Given the description of an element on the screen output the (x, y) to click on. 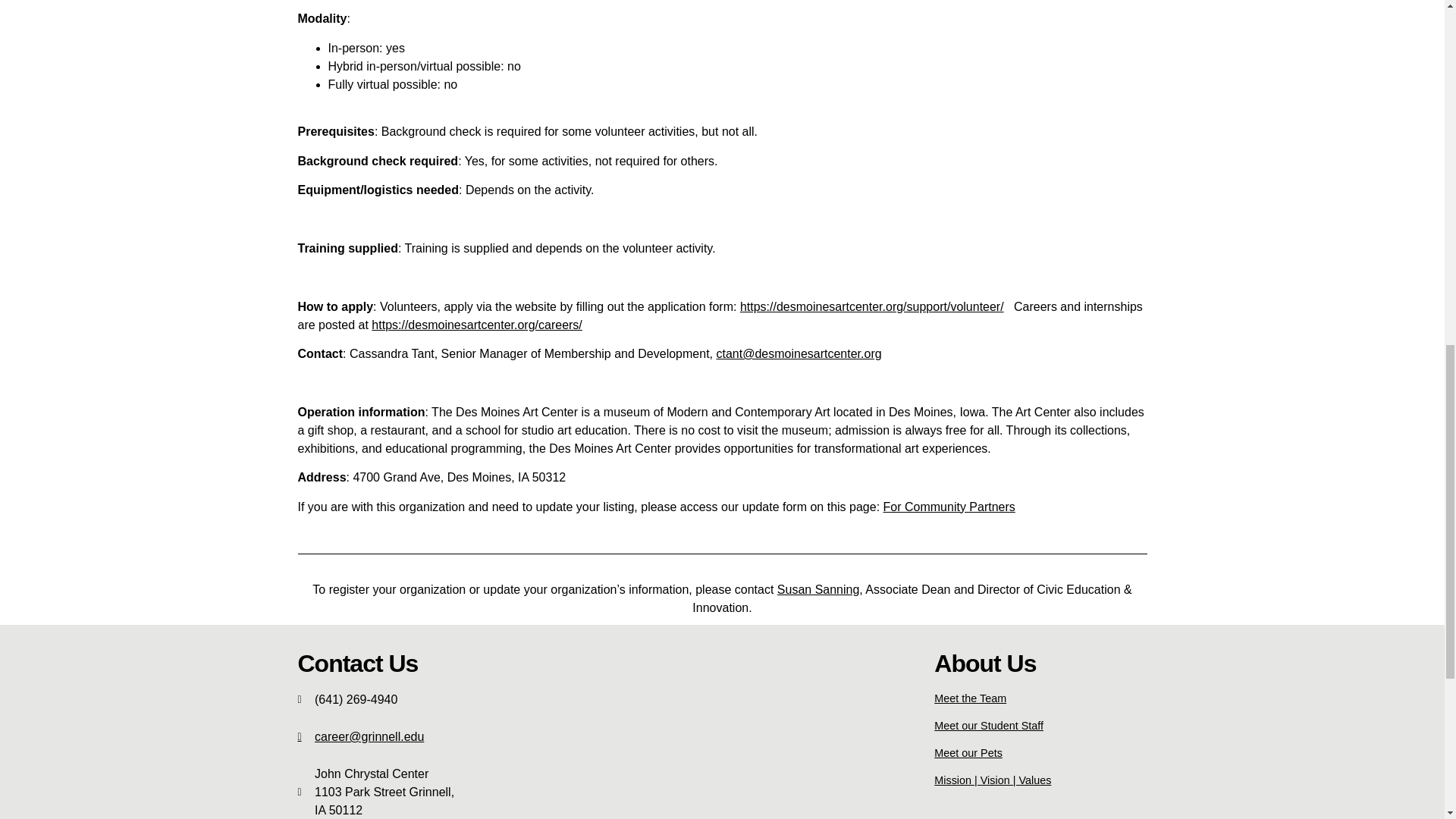
Susan Sanning (818, 589)
Meet our Student Staff (988, 725)
Meet our Pets (968, 752)
Meet the Team (970, 698)
For Community Partners (948, 506)
